Given the description of an element on the screen output the (x, y) to click on. 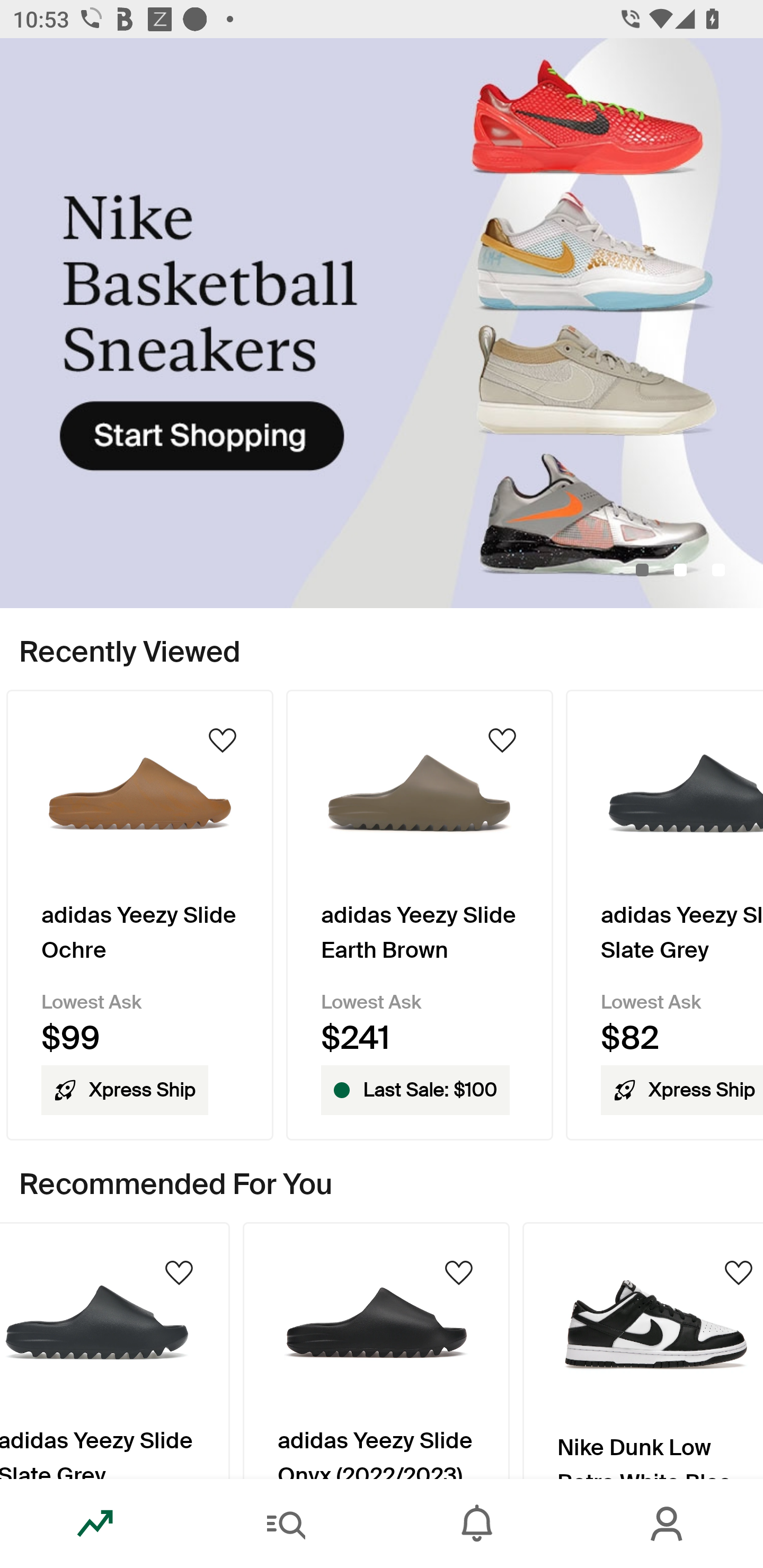
NikeBasketballSprint_Followup_Primary_Mobile.jpg (381, 322)
Product Image adidas Yeezy Slide Slate Grey (114, 1349)
Product Image adidas Yeezy Slide Onyx (2022/2023) (375, 1349)
Search (285, 1523)
Inbox (476, 1523)
Account (667, 1523)
